Given the description of an element on the screen output the (x, y) to click on. 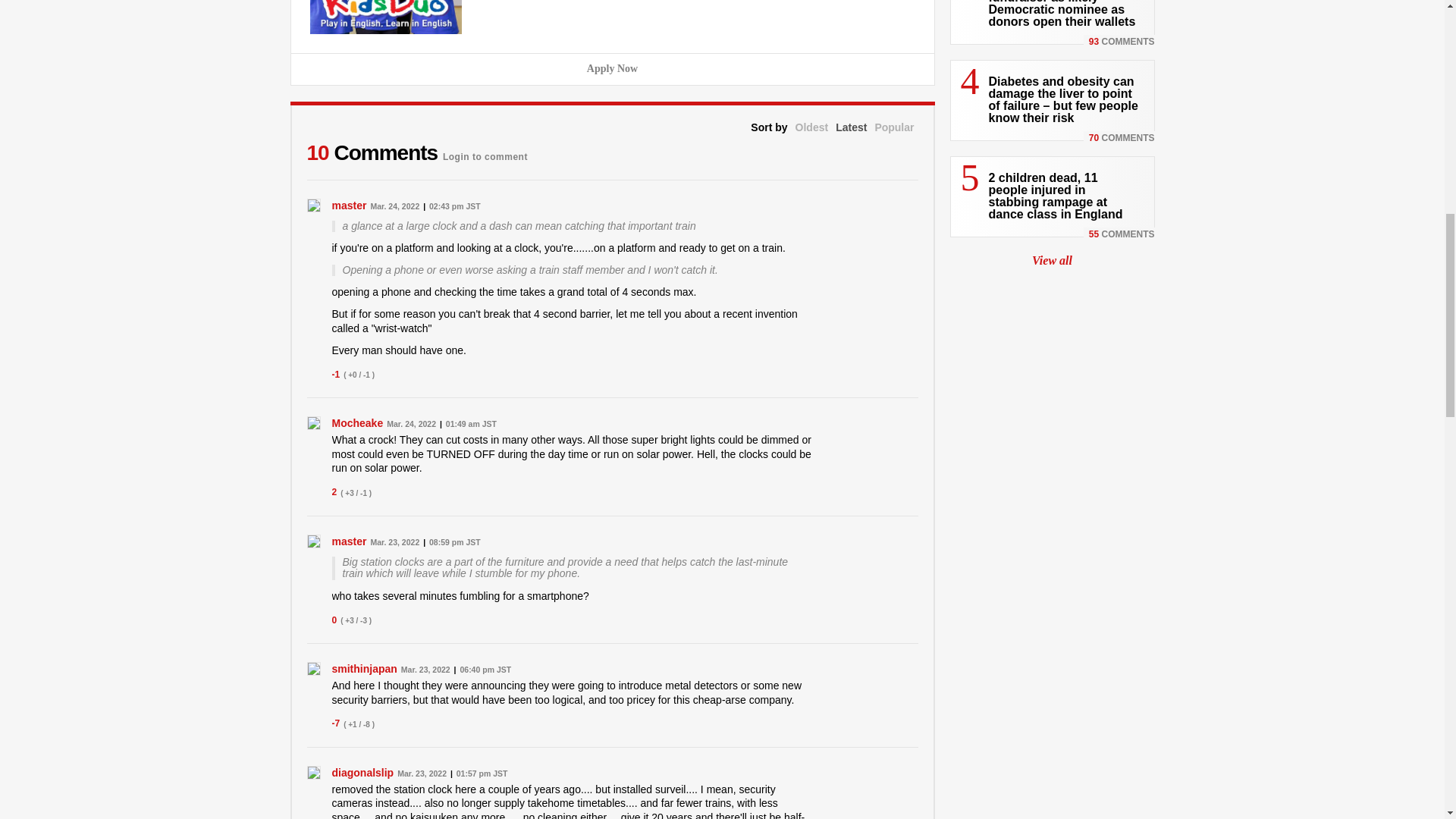
Login to comment (484, 152)
